Given the description of an element on the screen output the (x, y) to click on. 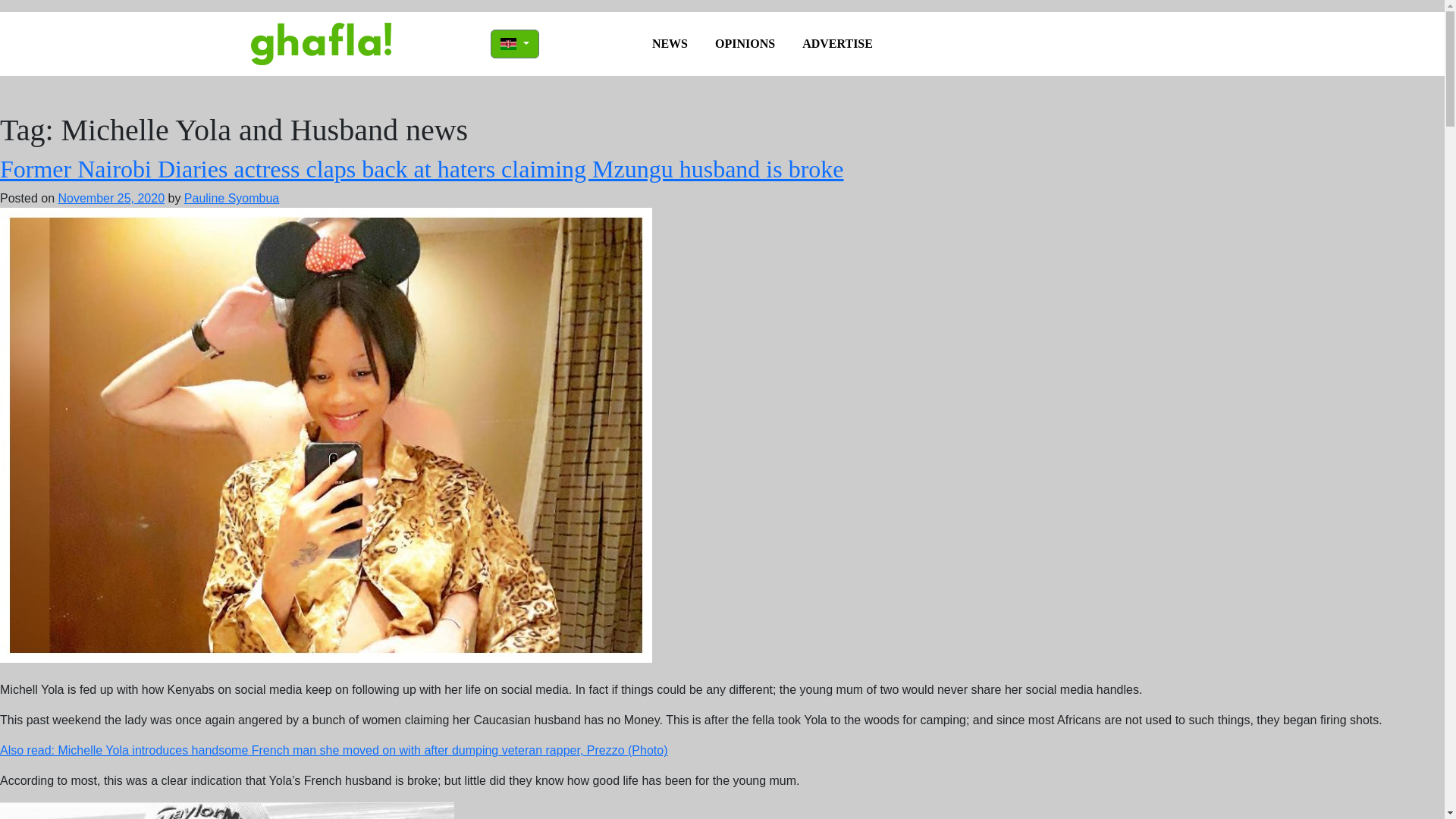
Pauline Syombua (231, 197)
November 25, 2020 (111, 197)
OPINIONS (744, 43)
NEWS (670, 43)
ADVERTISE (837, 43)
